Given the description of an element on the screen output the (x, y) to click on. 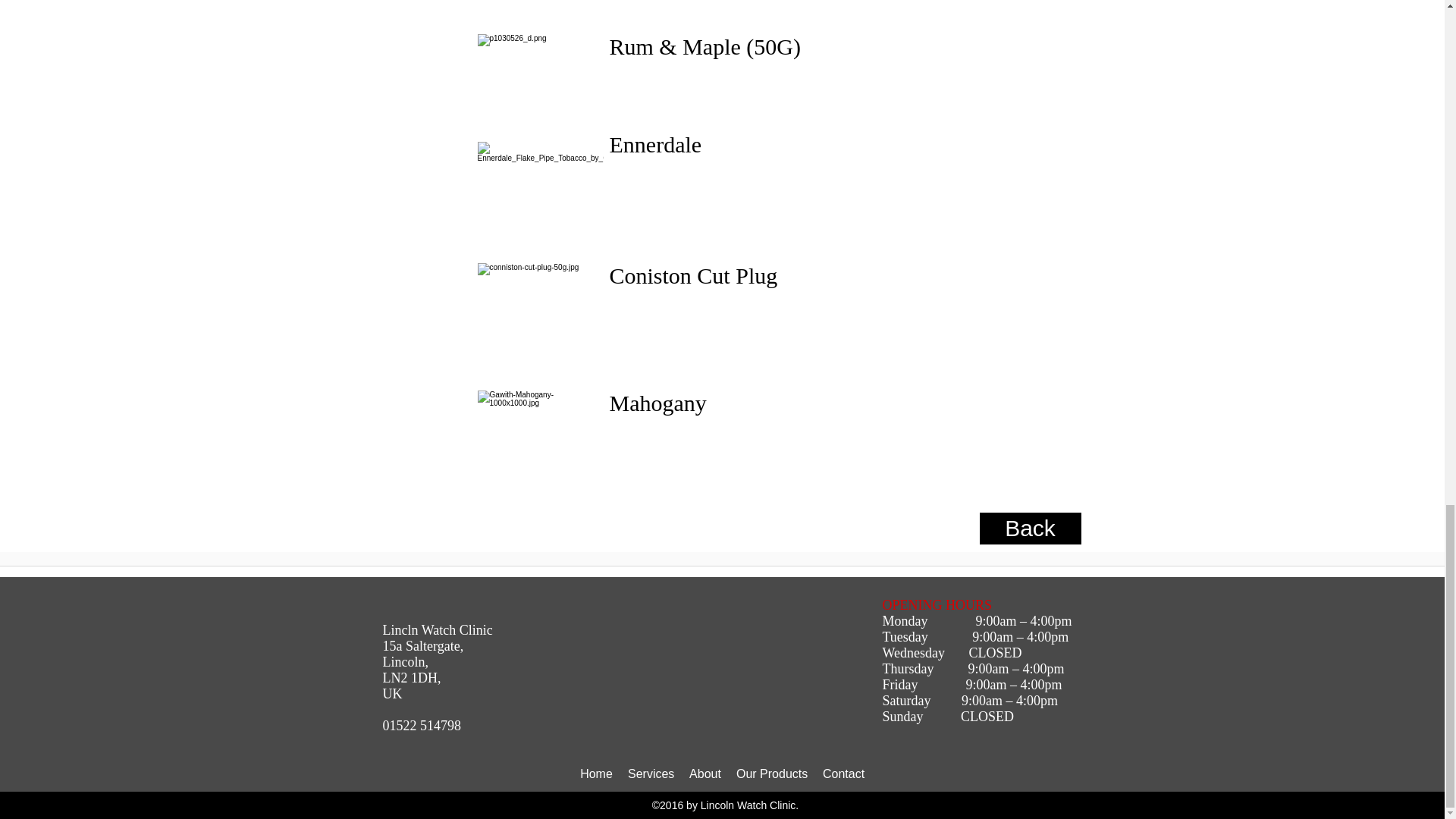
Our Products (772, 773)
Coniston Cut Plug  (696, 275)
Ennerdale (655, 144)
Contact (843, 773)
Services (650, 773)
Home (596, 773)
Back (1030, 528)
About (705, 773)
